Given the description of an element on the screen output the (x, y) to click on. 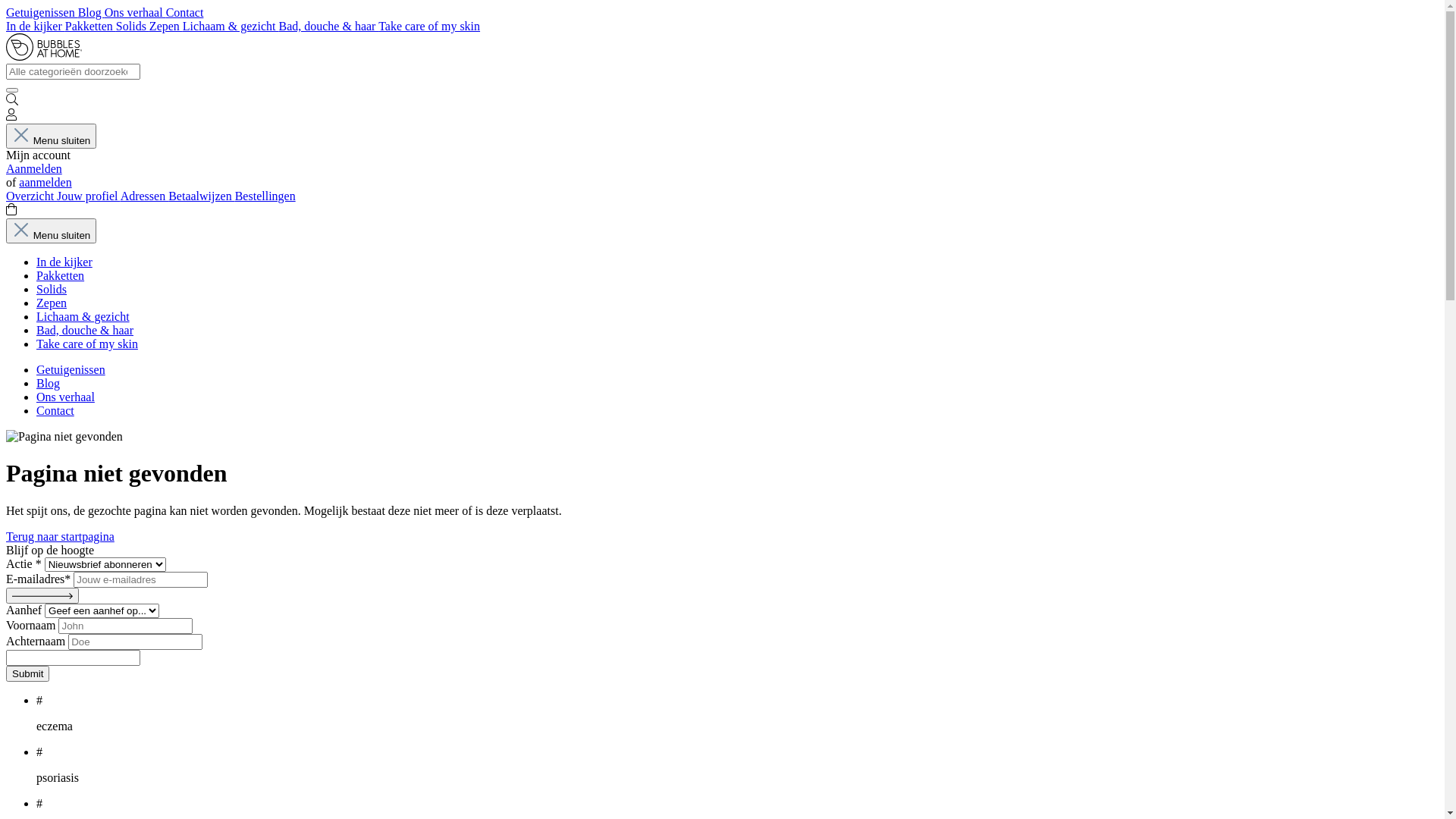
Getuigenissen Element type: text (70, 369)
Aanmelden Element type: text (34, 168)
In de kijker Element type: text (35, 25)
Menu sluiten Element type: text (51, 230)
Bad, douche & haar Element type: text (84, 329)
Betaalwijzen Element type: text (201, 195)
Solids Element type: text (132, 25)
Terug naar startpagina Element type: text (60, 536)
Adressen Element type: text (144, 195)
Ons verhaal Element type: text (65, 396)
Contact Element type: text (184, 12)
aanmelden Element type: text (44, 181)
Zepen Element type: text (165, 25)
Blog Element type: text (47, 382)
Pakketten Element type: text (90, 25)
Solids Element type: text (51, 288)
Contact Element type: text (55, 410)
Menu sluiten Element type: text (51, 135)
Take care of my skin Element type: text (87, 343)
Jouw profiel Element type: text (88, 195)
Lichaam & gezicht Element type: text (82, 316)
Take care of my skin Element type: text (429, 25)
Ons verhaal Element type: text (135, 12)
Bestellingen Element type: text (265, 195)
In de kijker Element type: text (64, 261)
Pakketten Element type: text (60, 275)
Zepen Element type: text (51, 302)
Getuigenissen Element type: text (42, 12)
Mijn account Element type: hover (11, 115)
Lichaam & gezicht Element type: text (230, 25)
Overzicht Element type: text (31, 195)
Winkelmandje Element type: hover (11, 210)
Bad, douche & haar Element type: text (328, 25)
Blog Element type: text (91, 12)
